Given the description of an element on the screen output the (x, y) to click on. 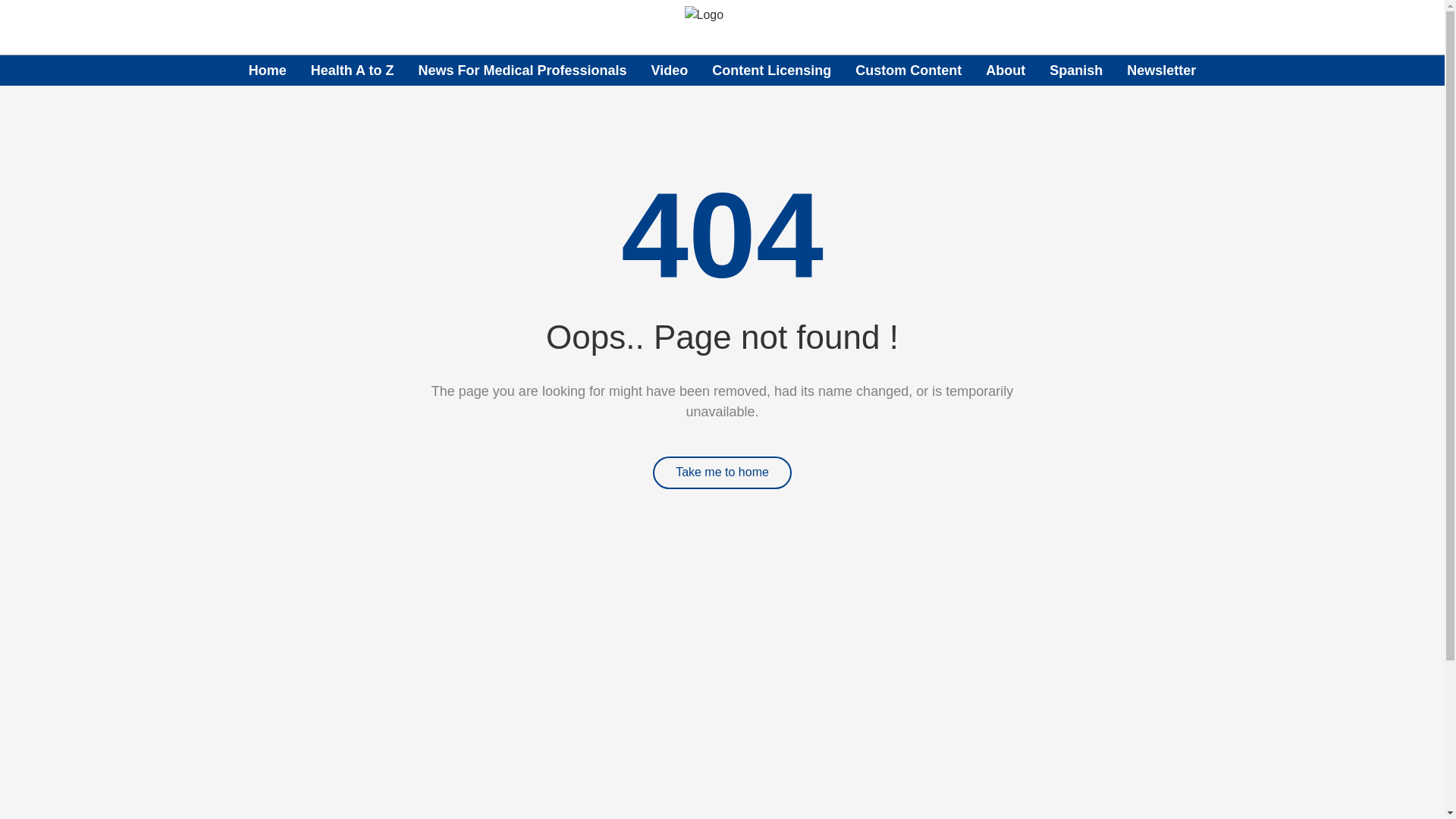
Home (267, 70)
Health A to Z (352, 70)
